Given the description of an element on the screen output the (x, y) to click on. 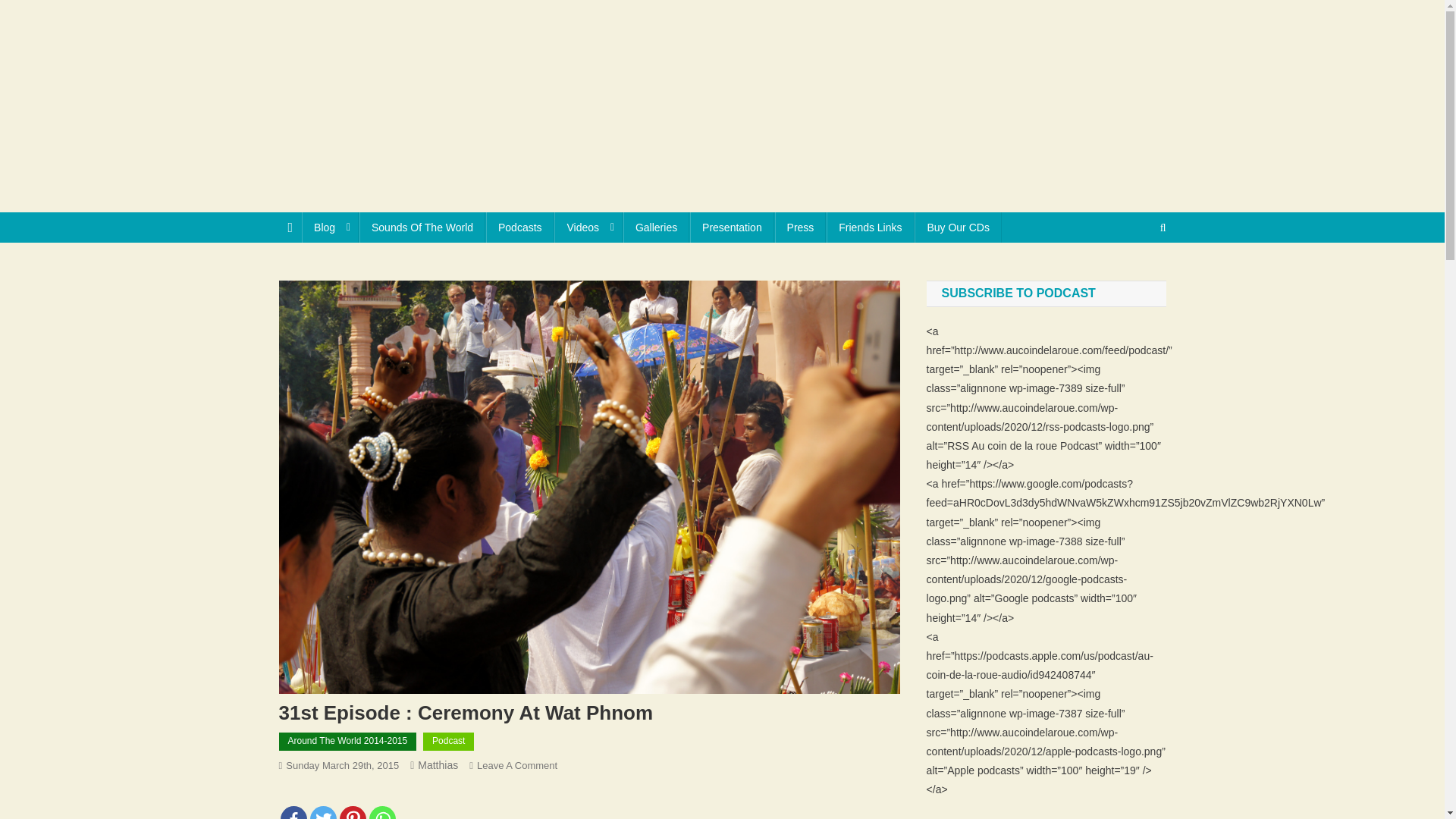
All our videos (588, 227)
Friends Links (870, 227)
Around The World 2014-2015 (347, 741)
Sounds Of The World (421, 227)
Blog (329, 227)
Matthias (437, 765)
Podcasts (520, 227)
Presentation (732, 227)
Videos (588, 227)
All our audio episodes (520, 227)
